Given the description of an element on the screen output the (x, y) to click on. 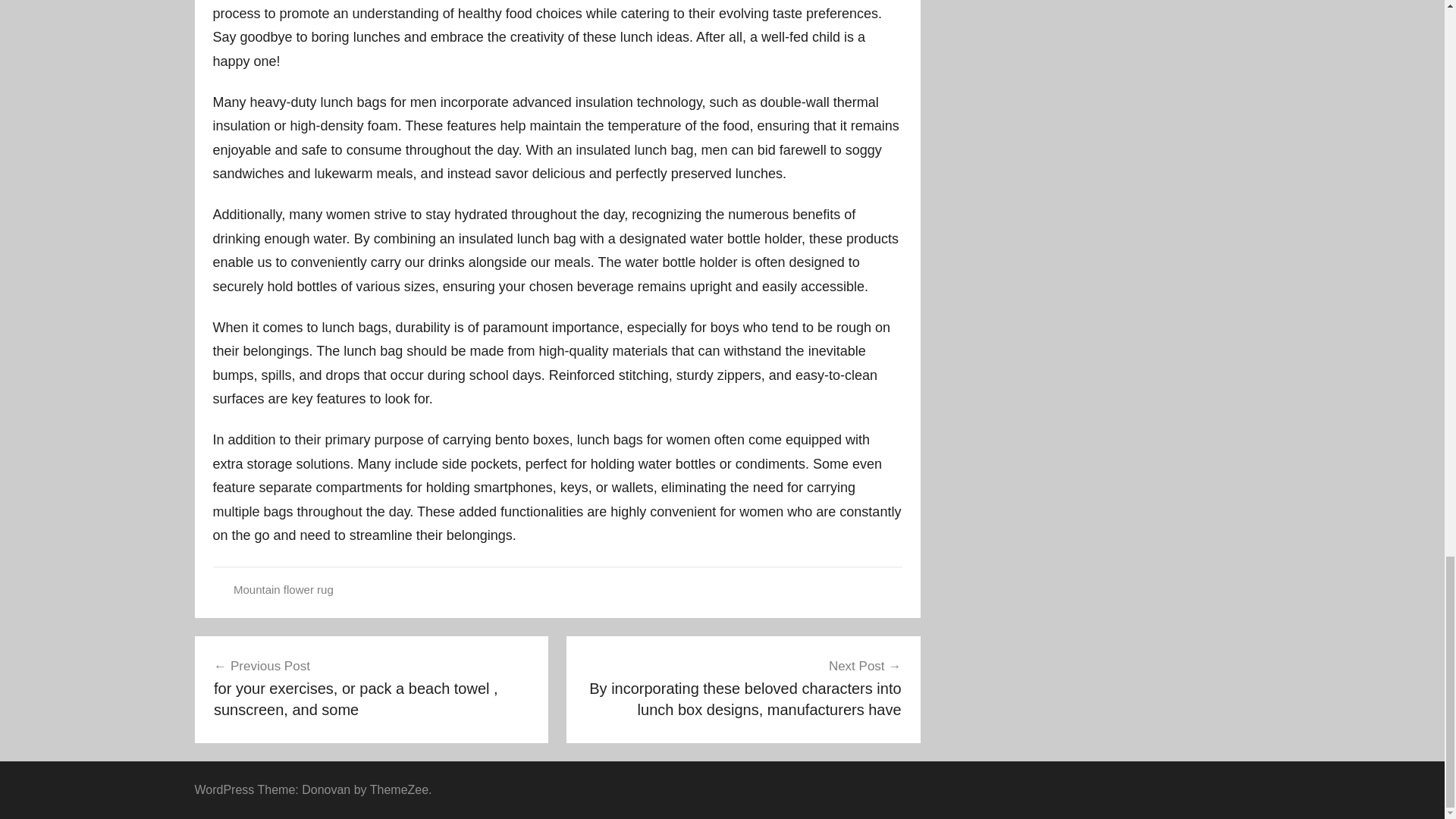
Mountain flower rug (282, 589)
